Given the description of an element on the screen output the (x, y) to click on. 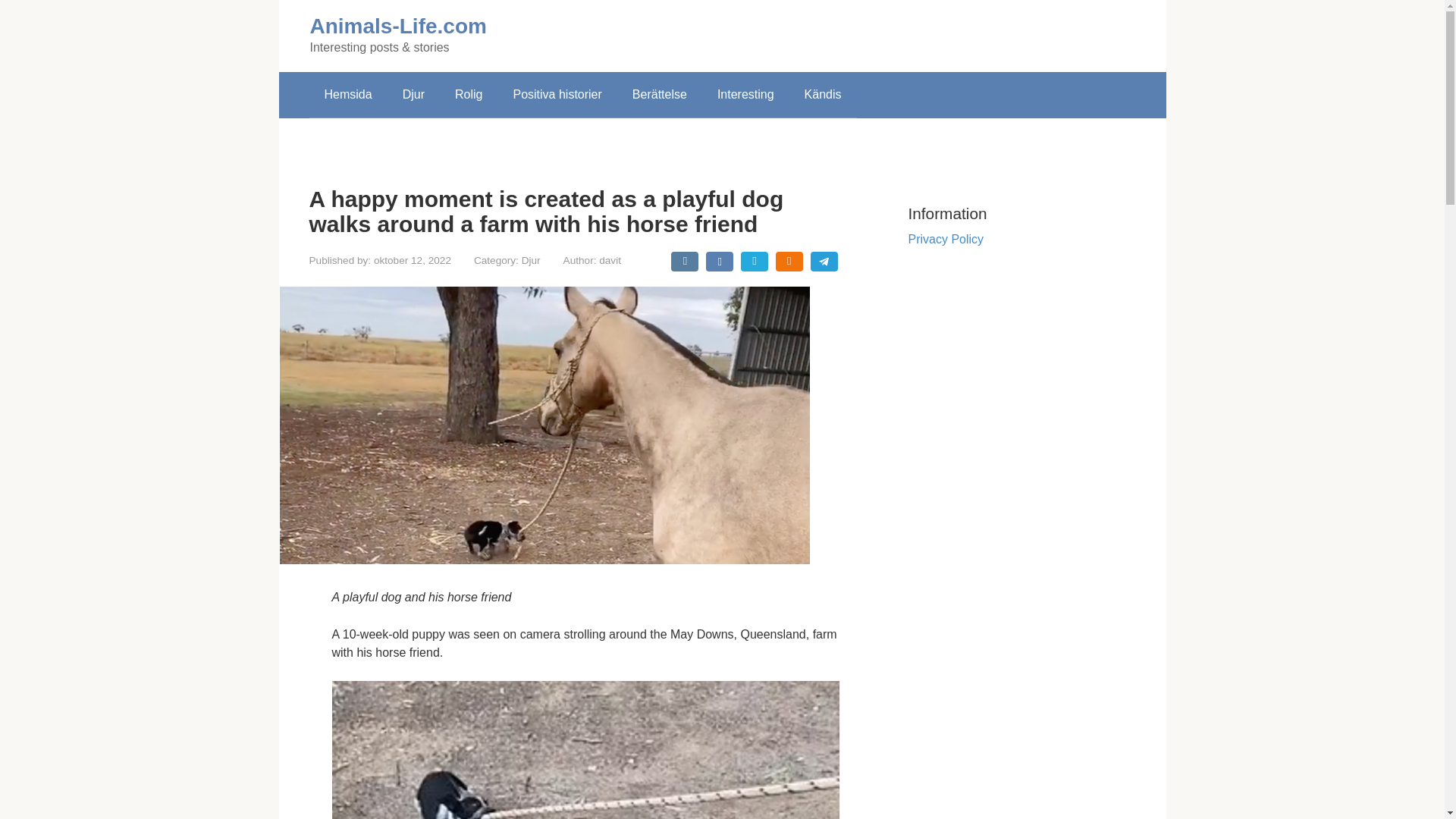
Interesting (745, 94)
Djur (413, 94)
Djur (530, 260)
Hemsida (347, 94)
Positiva historier (556, 94)
Rolig (468, 94)
Animals-Life.com (397, 25)
